Given the description of an element on the screen output the (x, y) to click on. 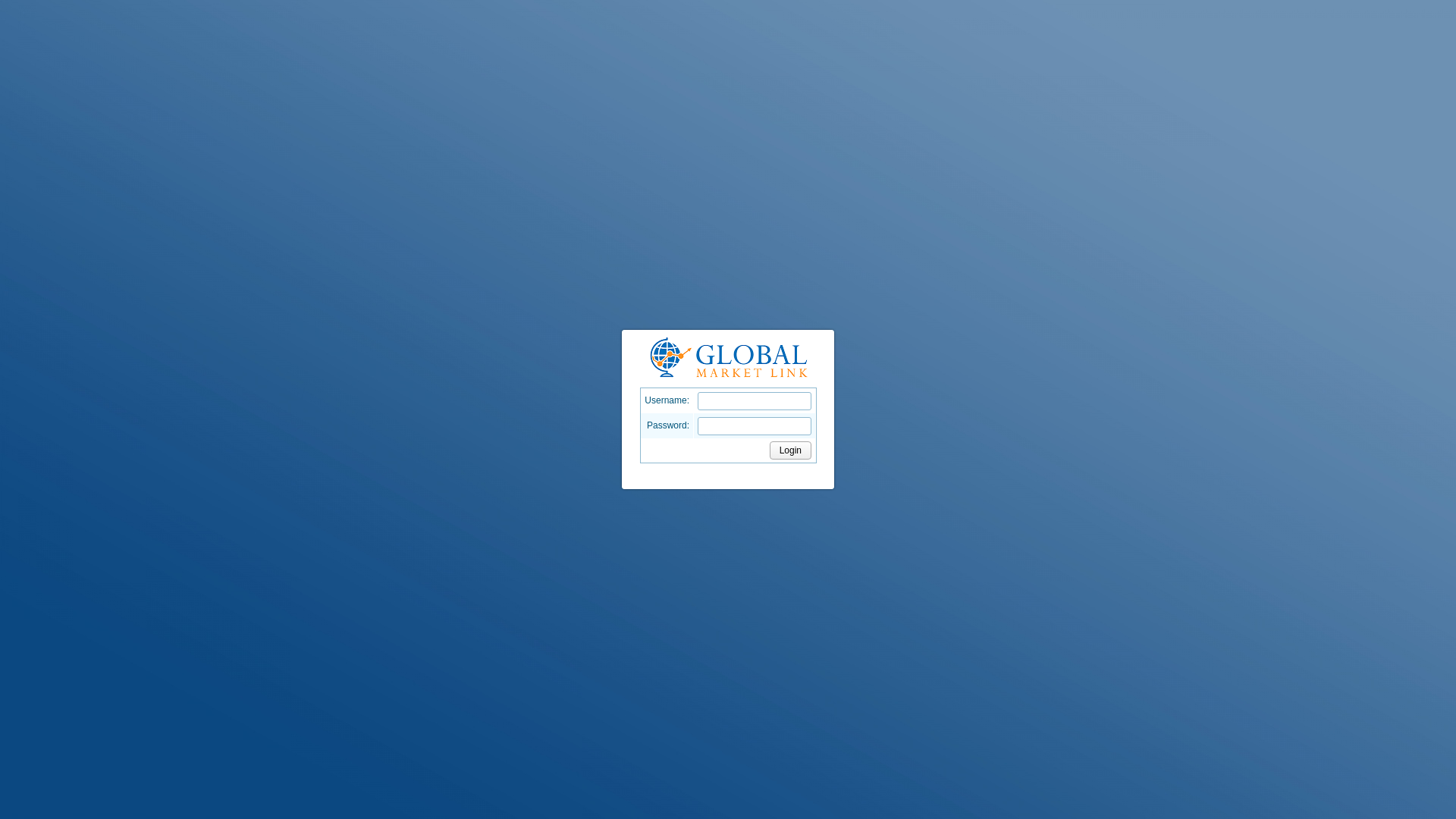
Login Element type: text (790, 450)
